Given the description of an element on the screen output the (x, y) to click on. 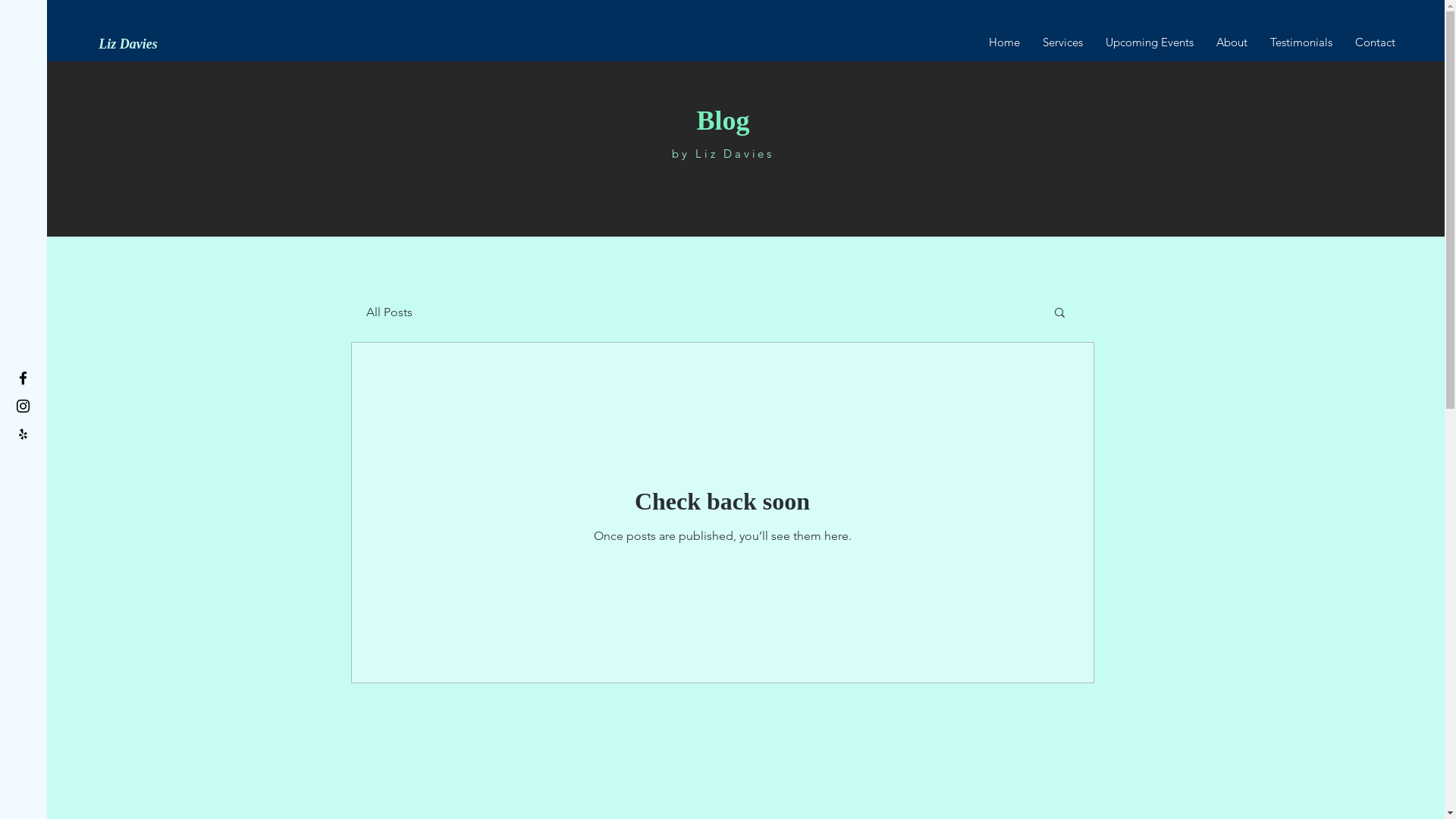
Upcoming Events Element type: text (1149, 42)
Liz Davies Element type: text (128, 43)
Home Element type: text (1004, 42)
Services Element type: text (1062, 42)
All Posts Element type: text (388, 311)
About Element type: text (1231, 42)
Testimonials Element type: text (1300, 42)
Contact Element type: text (1374, 42)
